Given the description of an element on the screen output the (x, y) to click on. 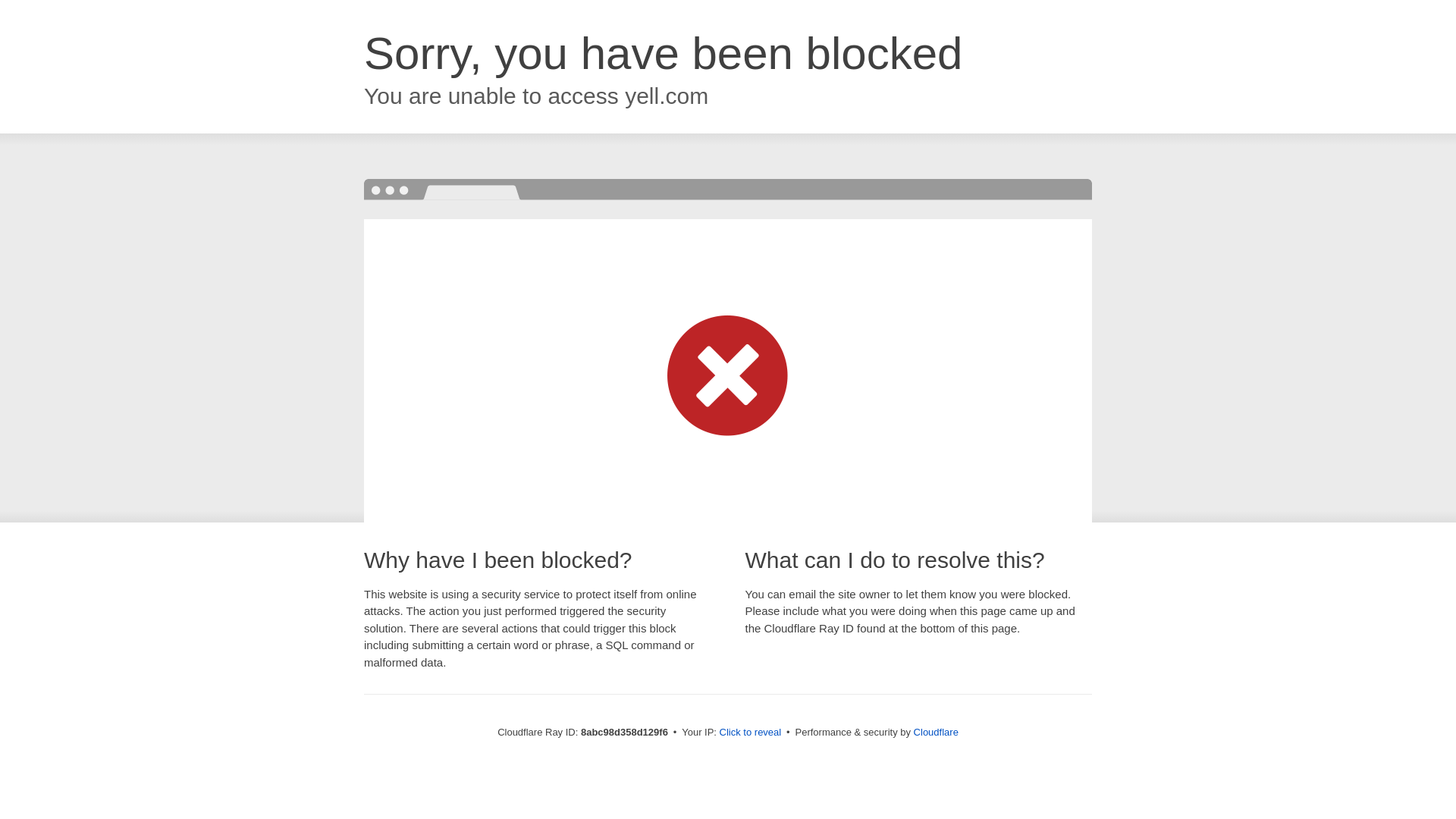
Click to reveal (750, 732)
Cloudflare (936, 731)
